Given the description of an element on the screen output the (x, y) to click on. 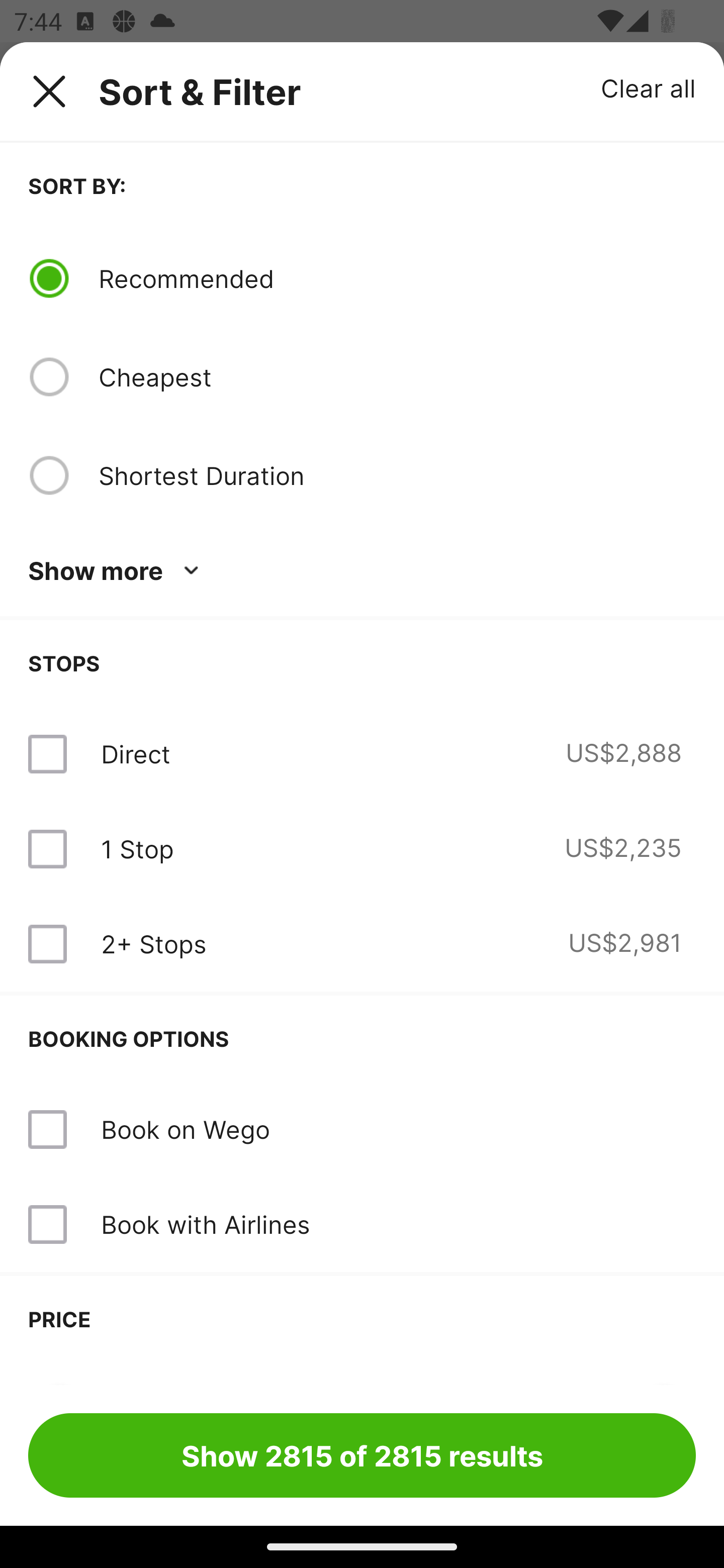
Clear all (648, 87)
Recommended  (396, 278)
Cheapest (396, 377)
Shortest Duration (396, 474)
Show more (116, 570)
Direct US$2,888 (362, 754)
Direct (135, 753)
1 Stop US$2,235 (362, 848)
1 Stop (136, 849)
2+ Stops US$2,981 (362, 943)
2+ Stops (153, 943)
Book on Wego (362, 1129)
Book on Wego (184, 1128)
Book with Airlines (362, 1224)
Book with Airlines (204, 1224)
Show 2815 of 2815 results (361, 1454)
